Given the description of an element on the screen output the (x, y) to click on. 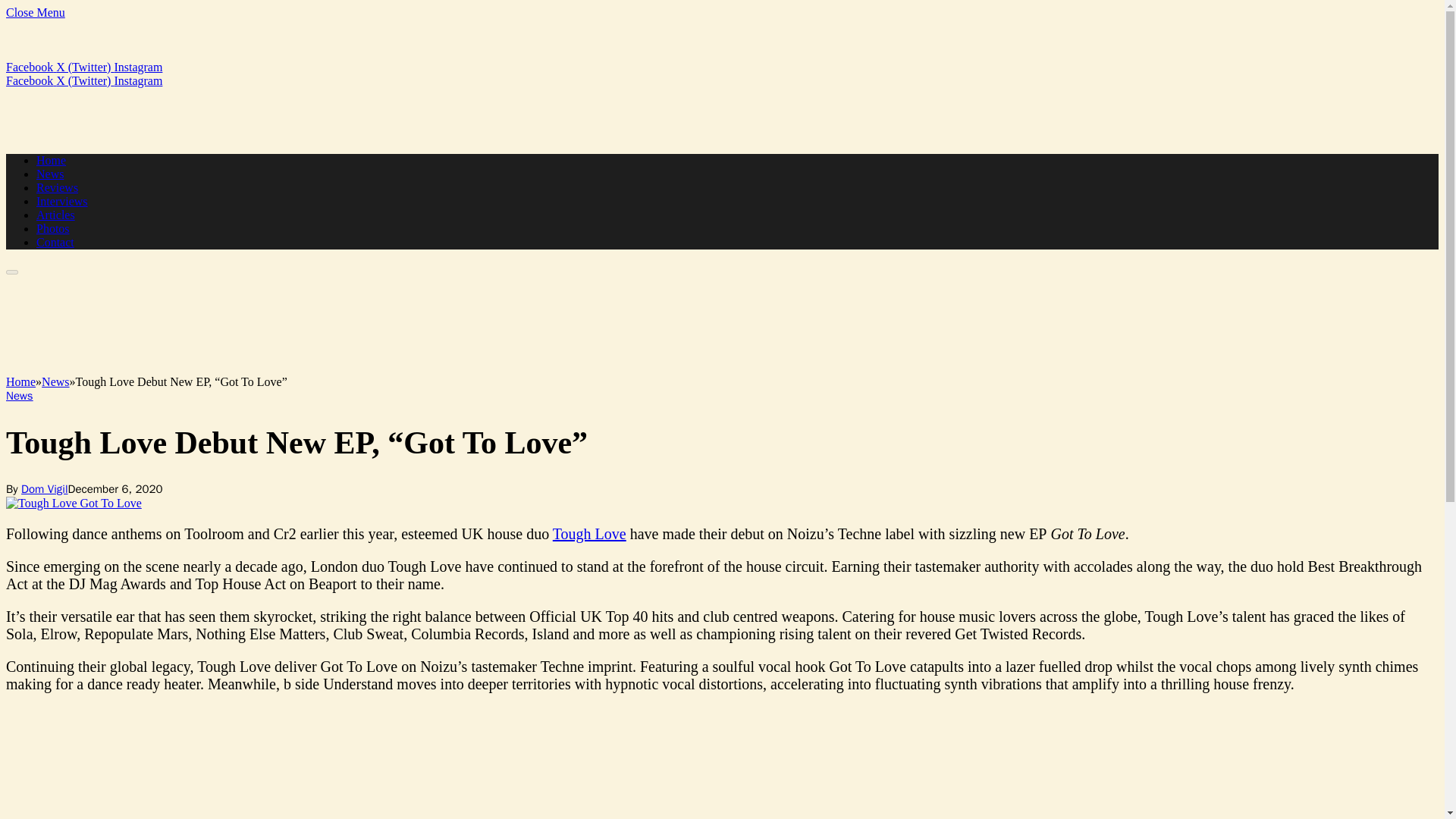
Home (50, 160)
News (50, 173)
Posts by Dom Vigil (43, 489)
Dom Vigil (43, 489)
Tough Love (589, 533)
Photos (52, 228)
Facebook (30, 80)
Interviews (61, 201)
Instagram (137, 80)
Instagram (137, 66)
